Given the description of an element on the screen output the (x, y) to click on. 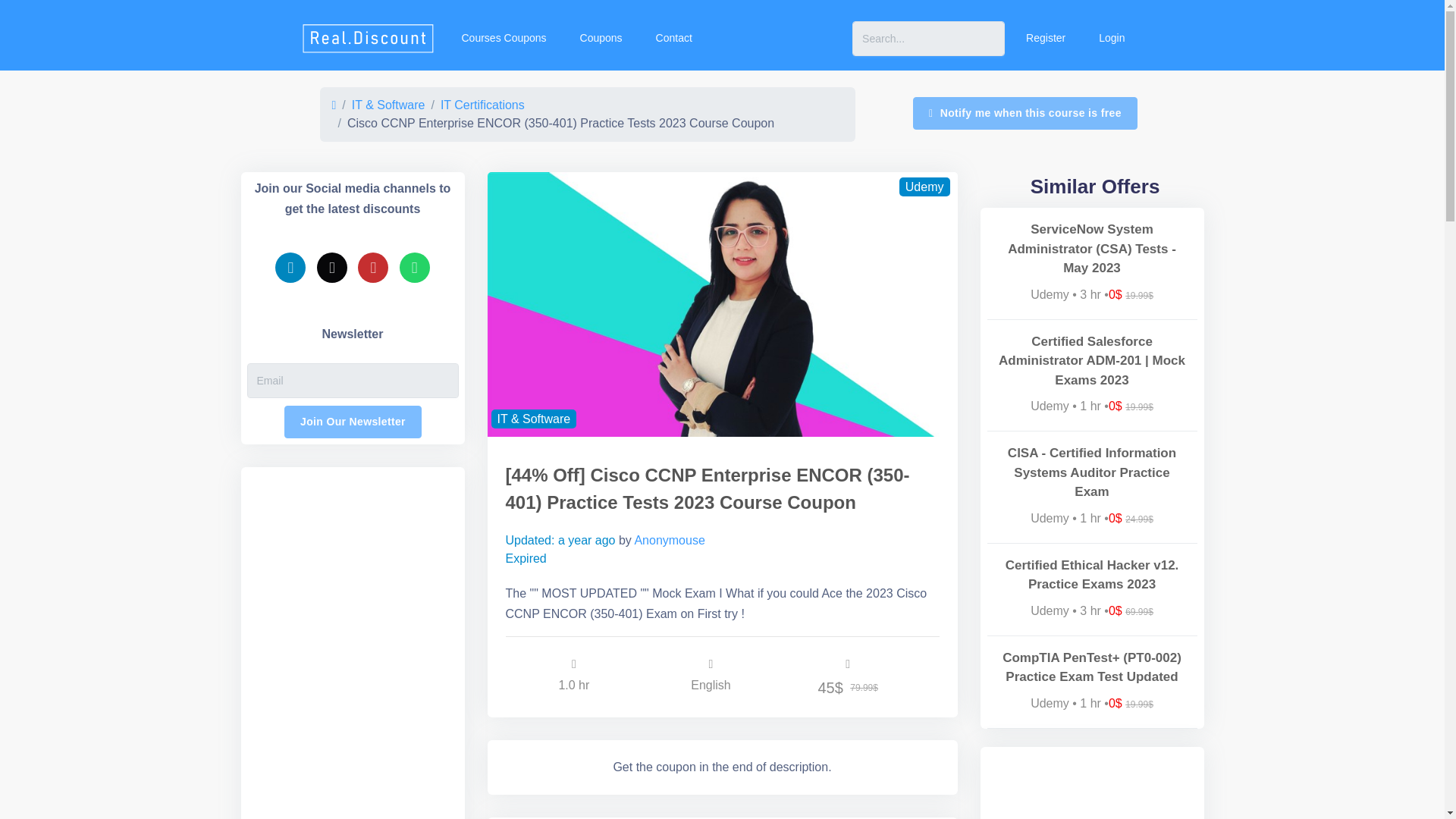
Advertisement (1091, 782)
Coupons (599, 38)
Login (1110, 38)
Join Our Newsletter (352, 421)
Courses Coupons (501, 38)
Register (1043, 38)
Notify me when this course is free (1024, 113)
IT Certifications (482, 104)
Contact (672, 38)
Join Our Newsletter (352, 421)
